Given the description of an element on the screen output the (x, y) to click on. 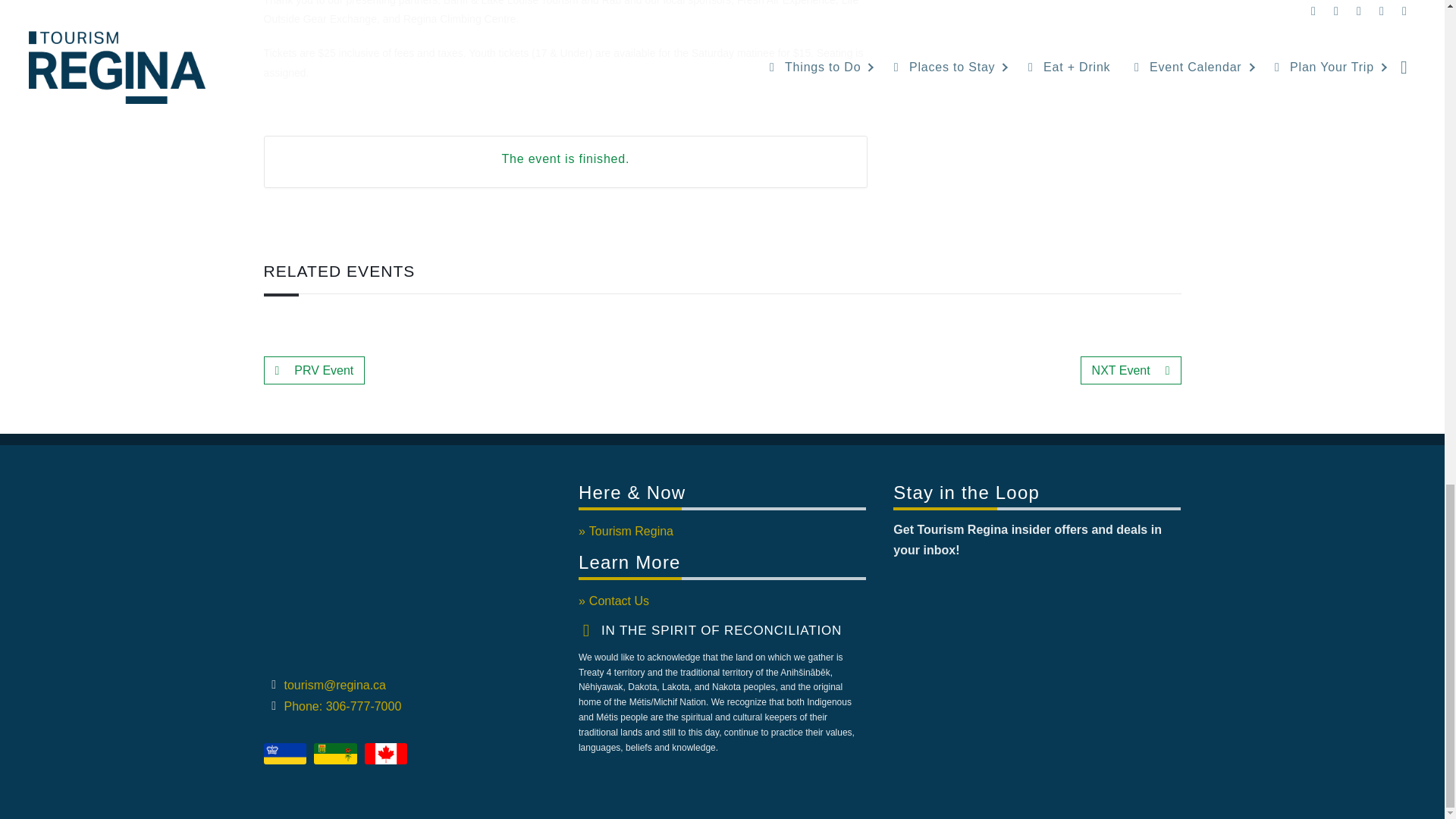
Regina (285, 753)
Phone: 306-777-7000 (405, 706)
Regina (284, 753)
